Given the description of an element on the screen output the (x, y) to click on. 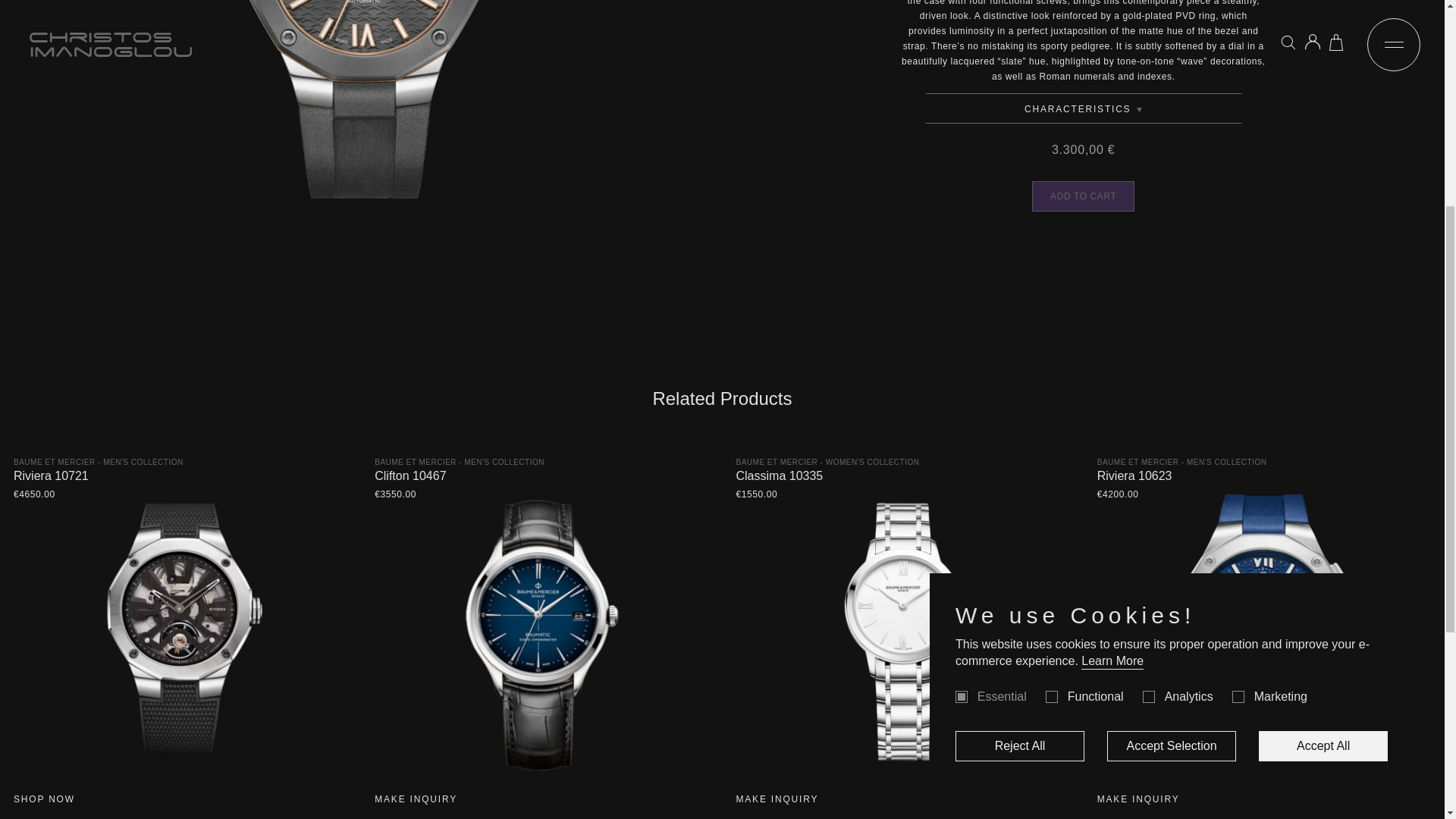
Marketing (1237, 321)
Necessary (961, 321)
Analytics (1148, 321)
Preferences (1051, 321)
